Given the description of an element on the screen output the (x, y) to click on. 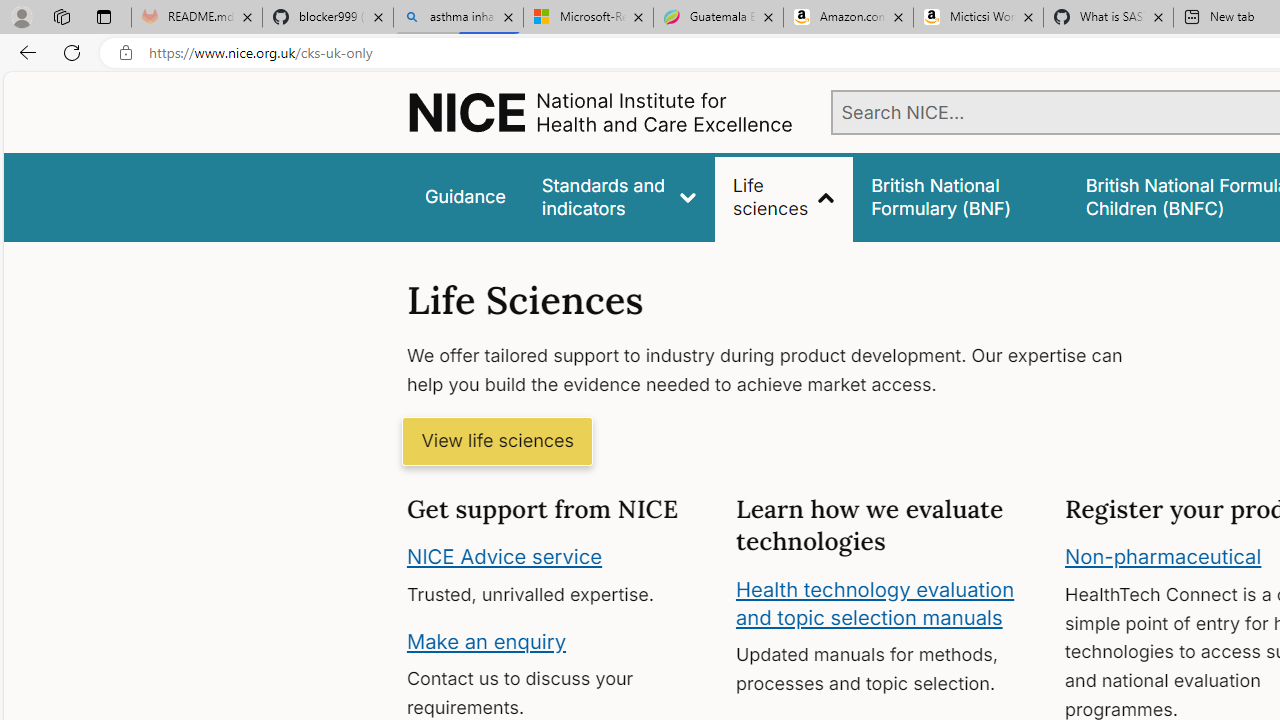
asthma inhaler - Search (458, 17)
Make an enquiry (486, 640)
Life sciences (783, 196)
NICE Advice service (503, 557)
Guidance (464, 196)
Microsoft-Report a Concern to Bing (587, 17)
Guidance (464, 196)
Non-pharmaceutical (1163, 557)
